Given the description of an element on the screen output the (x, y) to click on. 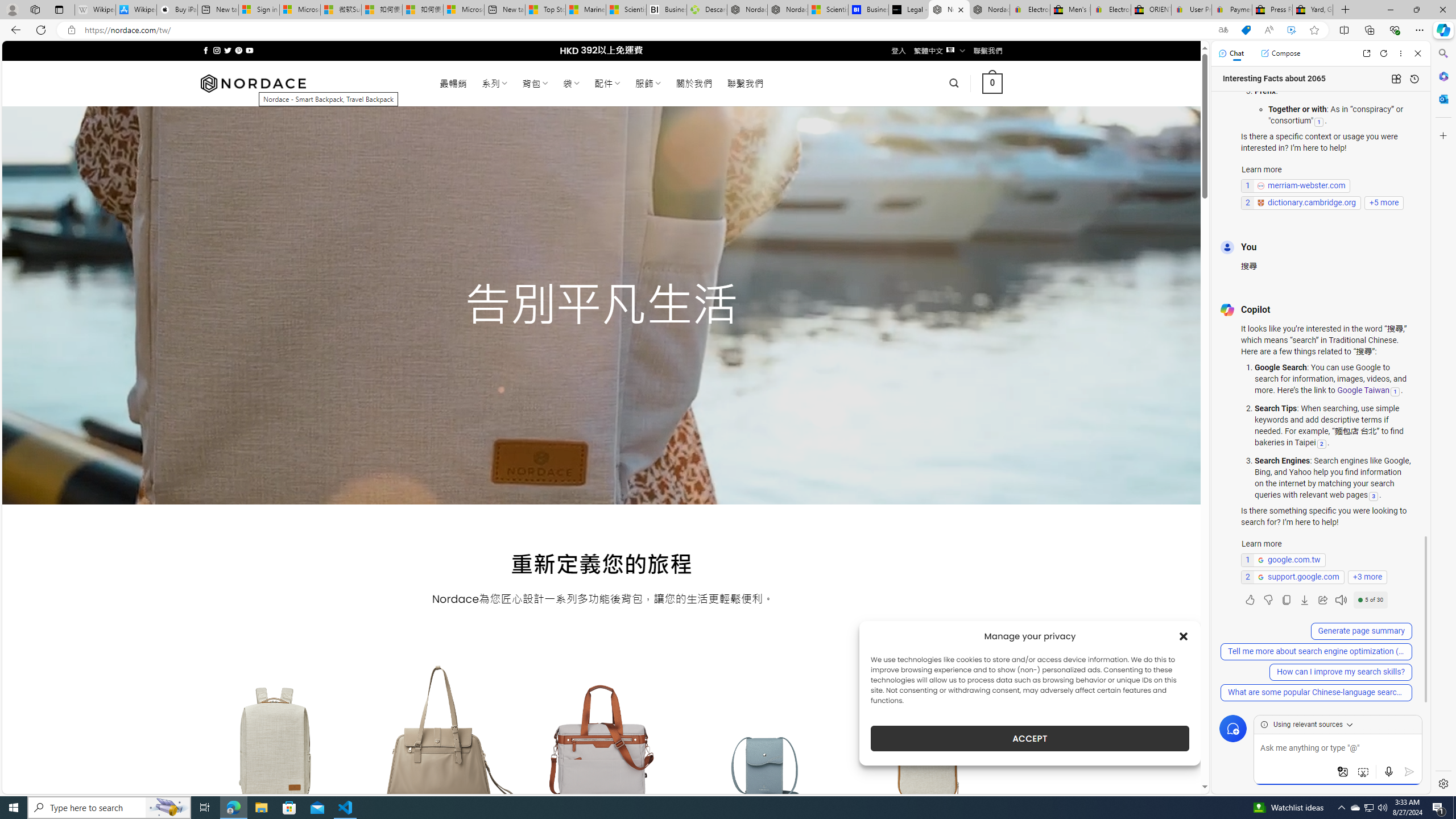
Compose (1280, 52)
Follow on Pinterest (237, 50)
